Given the description of an element on the screen output the (x, y) to click on. 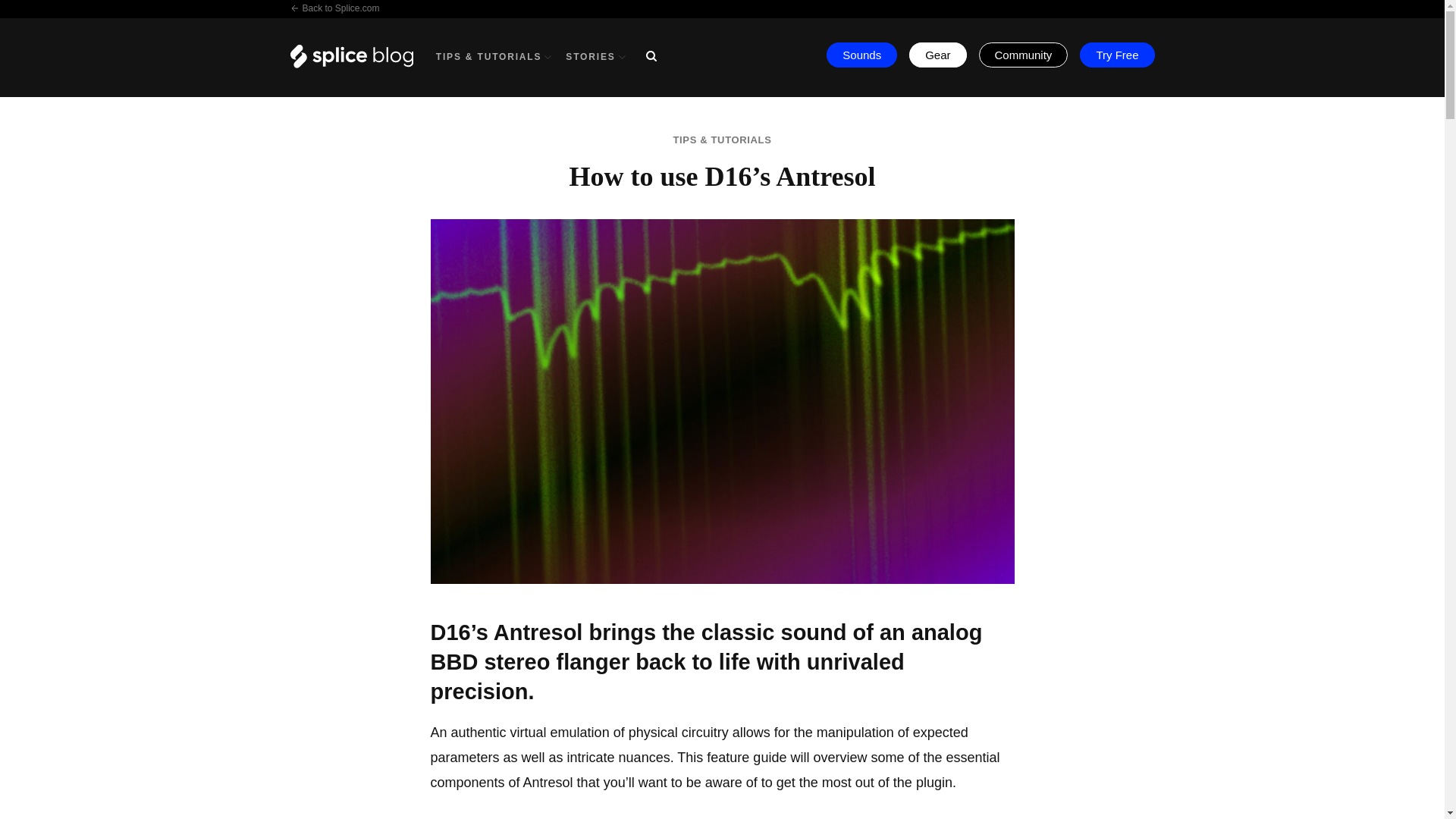
Sounds (861, 54)
Back to Splice.com (333, 8)
.CLS-1SPLICE BLOG LOGO (362, 64)
STORIES (596, 56)
Gear (937, 54)
.CLS-1SPLICE BLOG LOGO (350, 56)
Community (1023, 54)
Try Free (1117, 54)
